Given the description of an element on the screen output the (x, y) to click on. 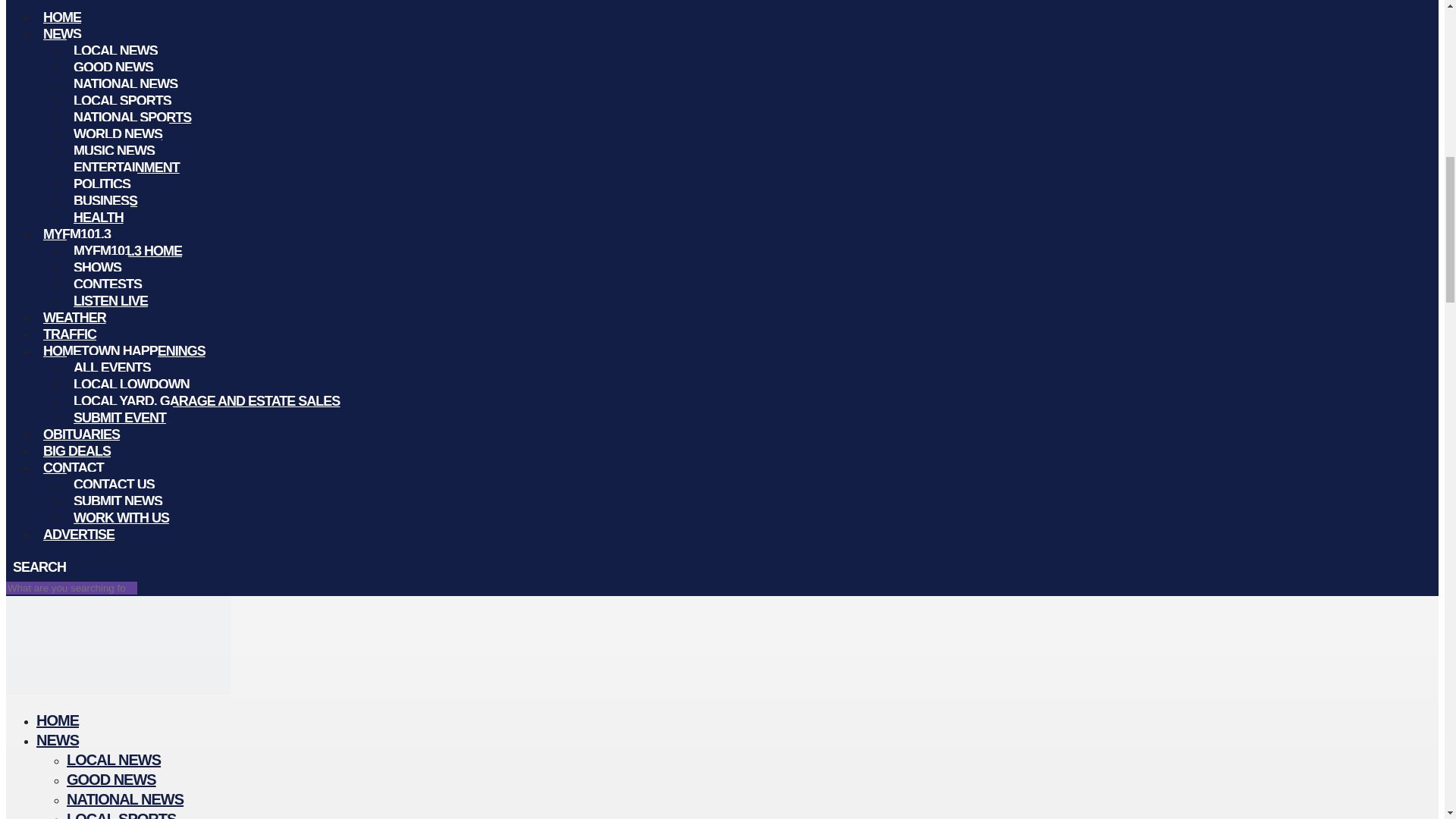
MyFMToday.com (117, 689)
Search for: (70, 587)
